Given the description of an element on the screen output the (x, y) to click on. 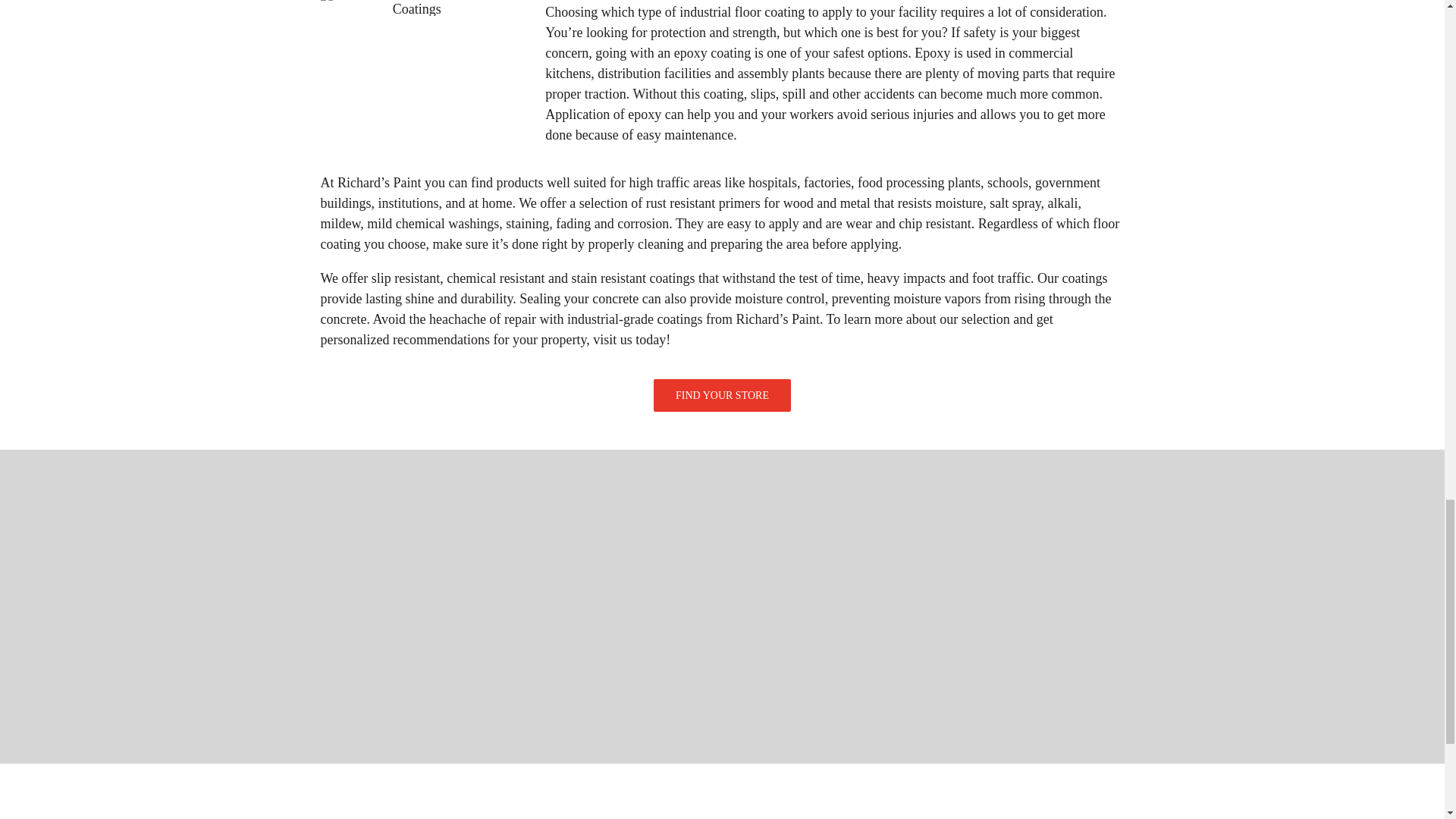
Home Exterior (531, 798)
Kitchen Paint Button (623, 798)
FIND YOUR STORE (721, 395)
Bathroom Paint Button (901, 798)
Dining Room Paint Button (993, 798)
Kitchen (623, 798)
Family Room Paint Button (1086, 798)
Bedroom (717, 798)
Bedroom Paint Button (717, 798)
Entryway Paint Button (808, 798)
Deck Paint Button (346, 798)
Deck Paint (346, 798)
FIND YOUR STORE (722, 402)
Office Paint (438, 798)
Office Paint Button (438, 798)
